Given the description of an element on the screen output the (x, y) to click on. 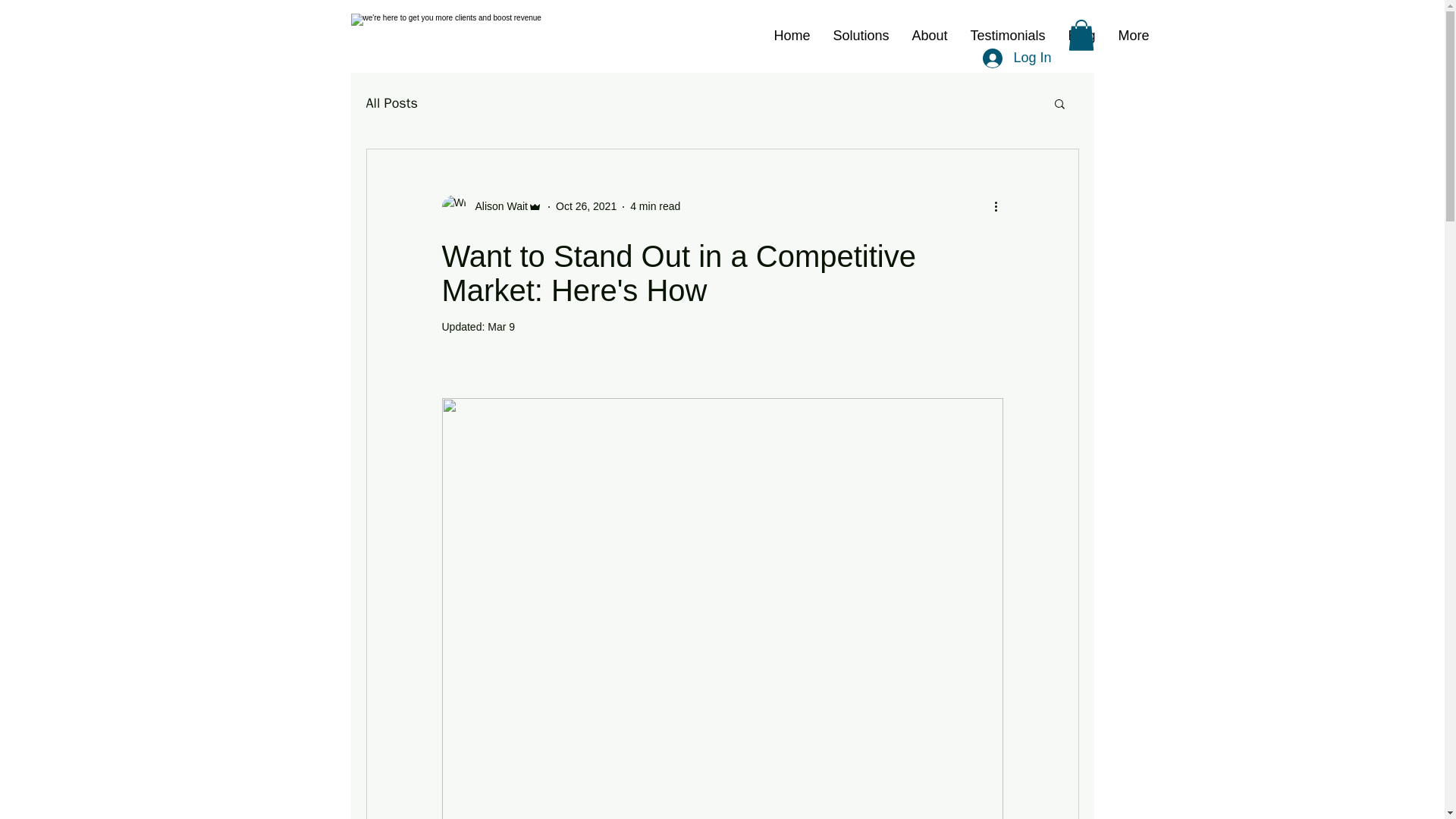
About (930, 35)
All Posts (390, 103)
4 min read (654, 205)
Blog (1081, 35)
Oct 26, 2021 (585, 205)
Home (792, 35)
Log In (1016, 58)
Alison Wait (491, 206)
Solutions (861, 35)
Mar 9 (501, 326)
Alison Wait (496, 206)
Testimonials (1007, 35)
